Given the description of an element on the screen output the (x, y) to click on. 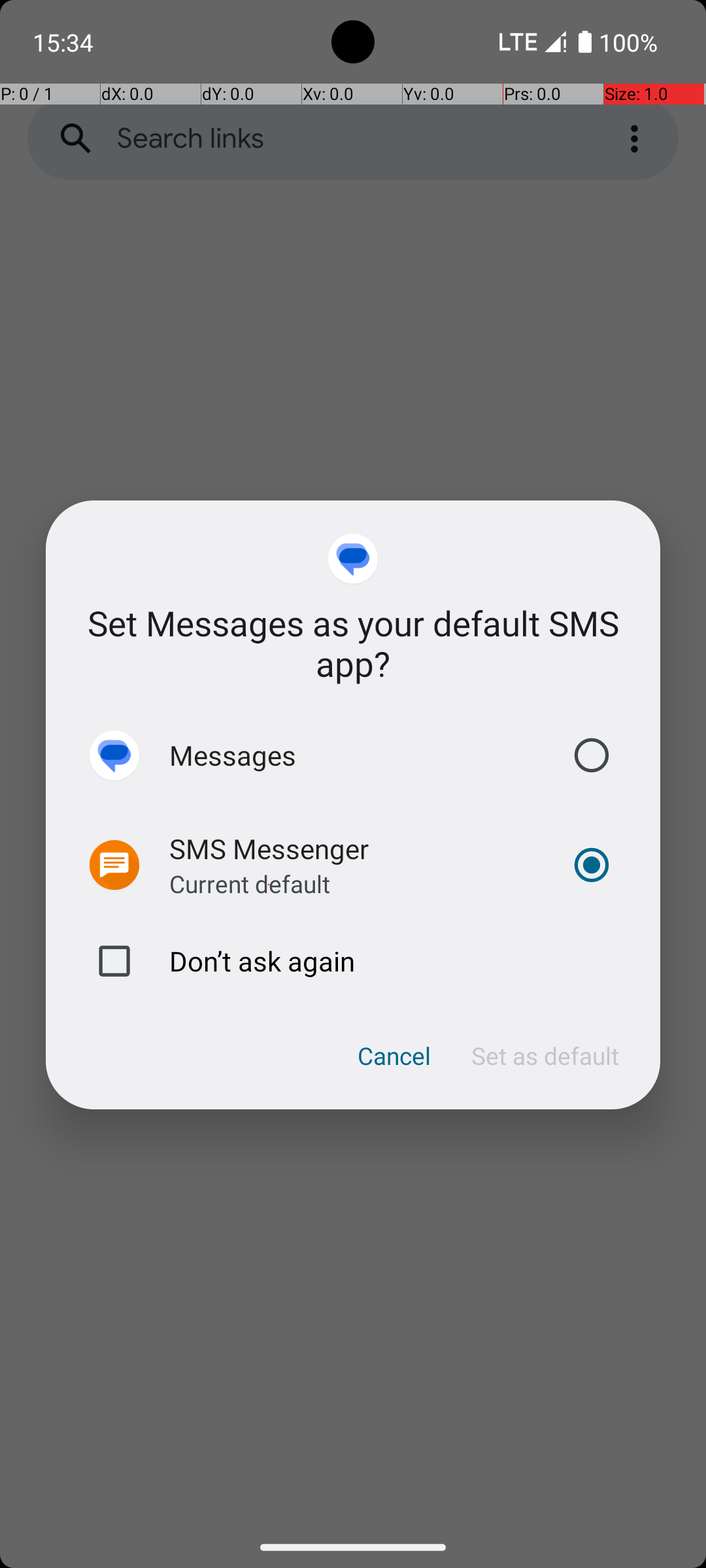
Set Messages as your default SMS app? Element type: android.widget.TextView (352, 642)
Don’t ask again Element type: android.widget.CheckBox (352, 960)
Set as default Element type: android.widget.Button (545, 1055)
Current default Element type: android.widget.TextView (249, 883)
